Given the description of an element on the screen output the (x, y) to click on. 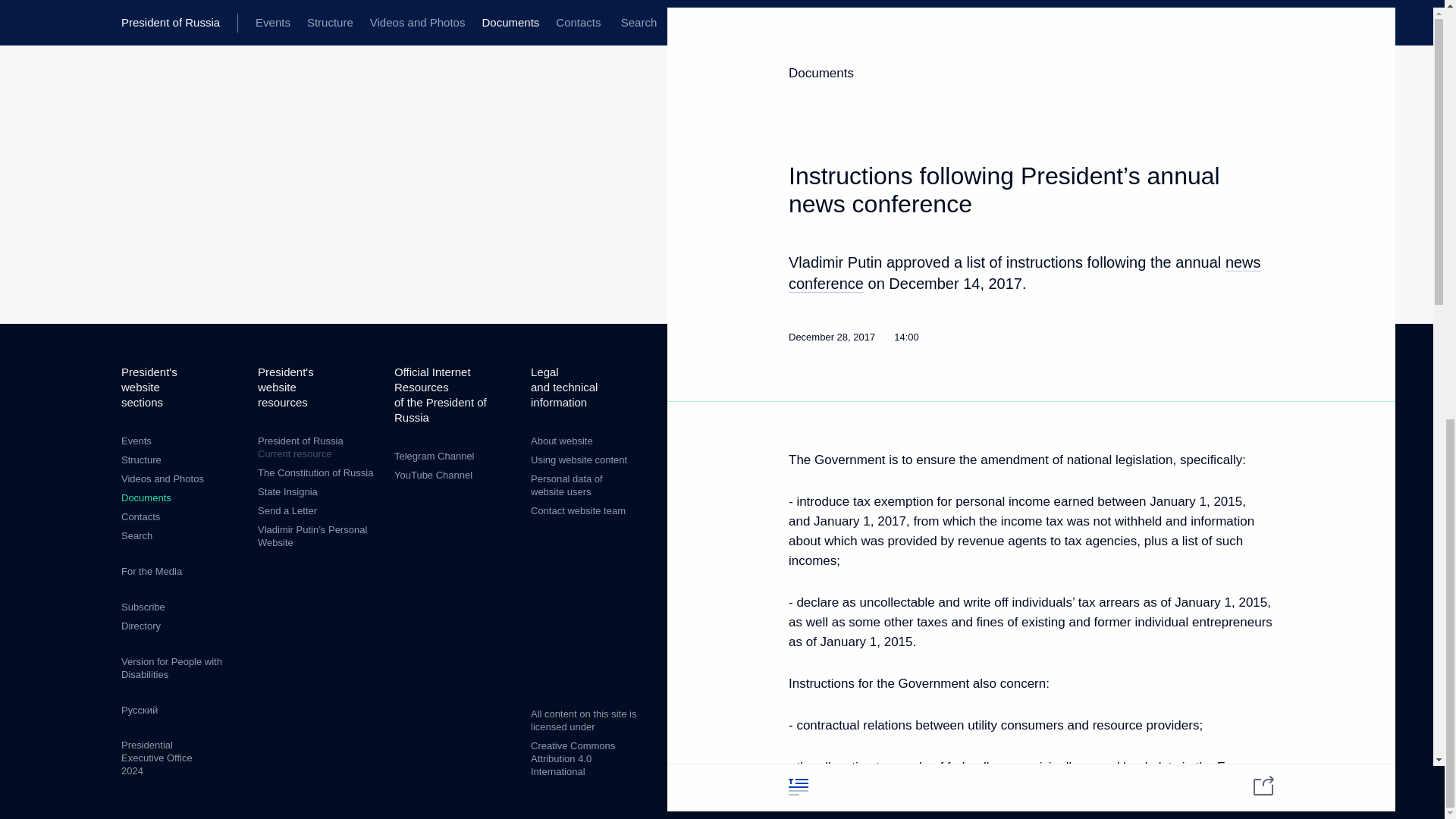
Contacts (140, 516)
Personal data of website users (566, 485)
Search (136, 535)
Subscribe (142, 606)
Directory (140, 625)
Contact website team (578, 510)
Videos and Photos (161, 478)
Documents (145, 497)
For the Media (151, 571)
State Insignia (287, 491)
